Given the description of an element on the screen output the (x, y) to click on. 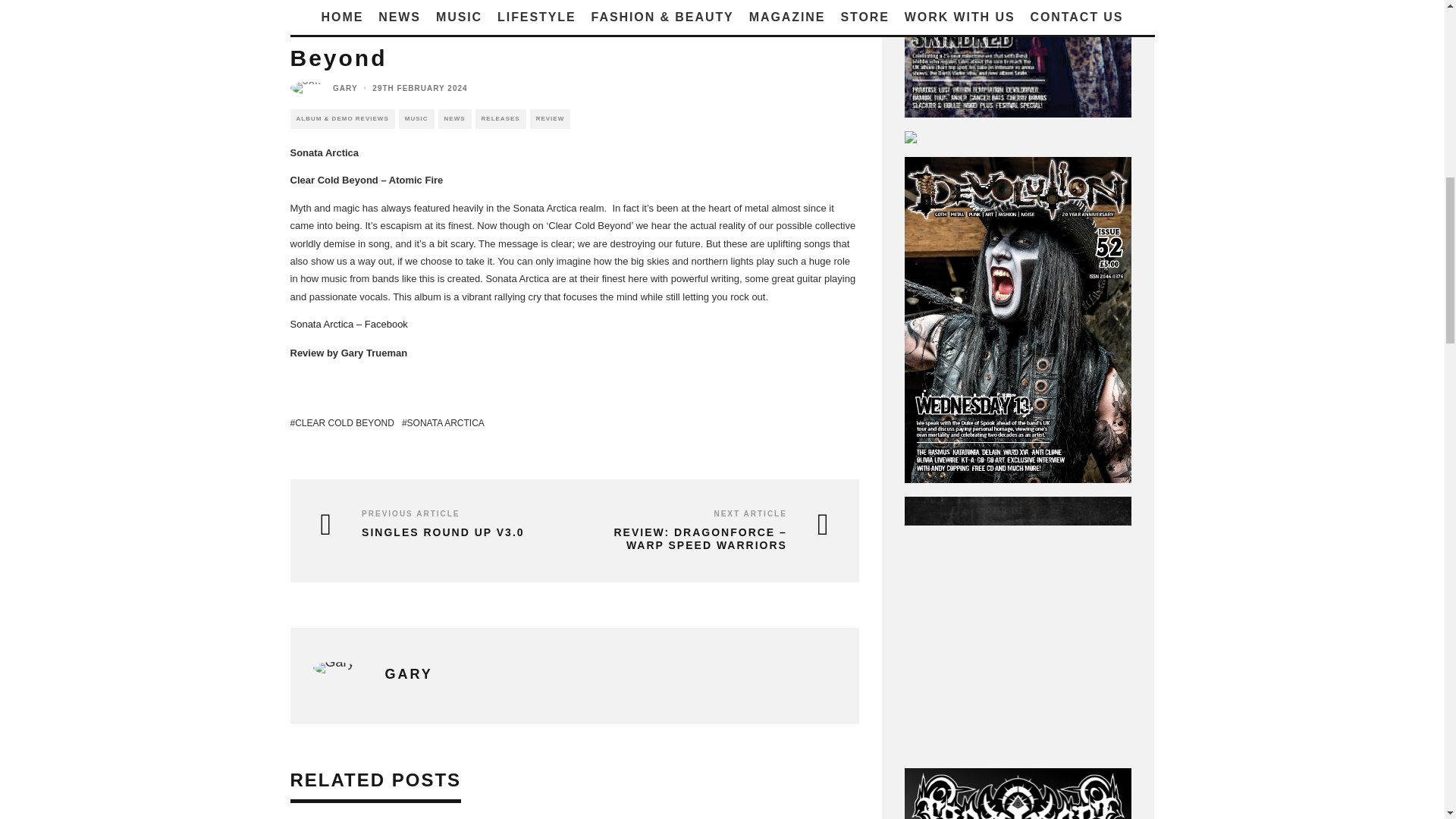
GARY (345, 87)
NEWS (454, 118)
MUSIC (415, 118)
